Given the description of an element on the screen output the (x, y) to click on. 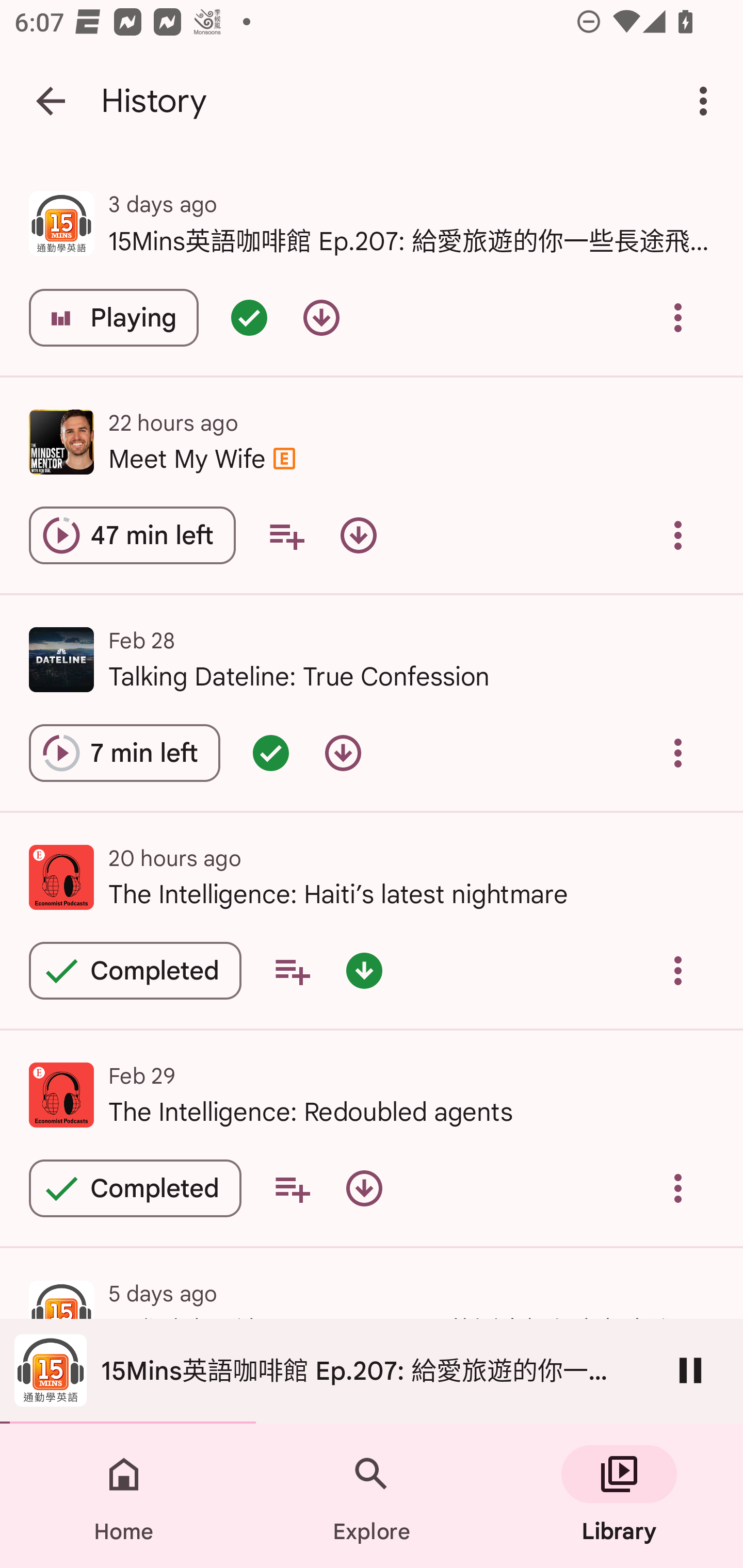
Navigate up (50, 101)
More options (706, 101)
Episode queued - double tap for options (249, 317)
Download episode (321, 317)
Overflow menu (677, 317)
Play episode Meet My Wife 47 min left (131, 535)
Add to your queue (286, 535)
Download episode (358, 535)
Overflow menu (677, 535)
Episode queued - double tap for options (270, 753)
Download episode (342, 753)
Overflow menu (677, 753)
Add to your queue (291, 970)
Episode downloaded - double tap for options (364, 970)
Overflow menu (677, 970)
Add to your queue (291, 1188)
Download episode (364, 1188)
Overflow menu (677, 1188)
Pause (690, 1370)
Home (123, 1495)
Explore (371, 1495)
